Given the description of an element on the screen output the (x, y) to click on. 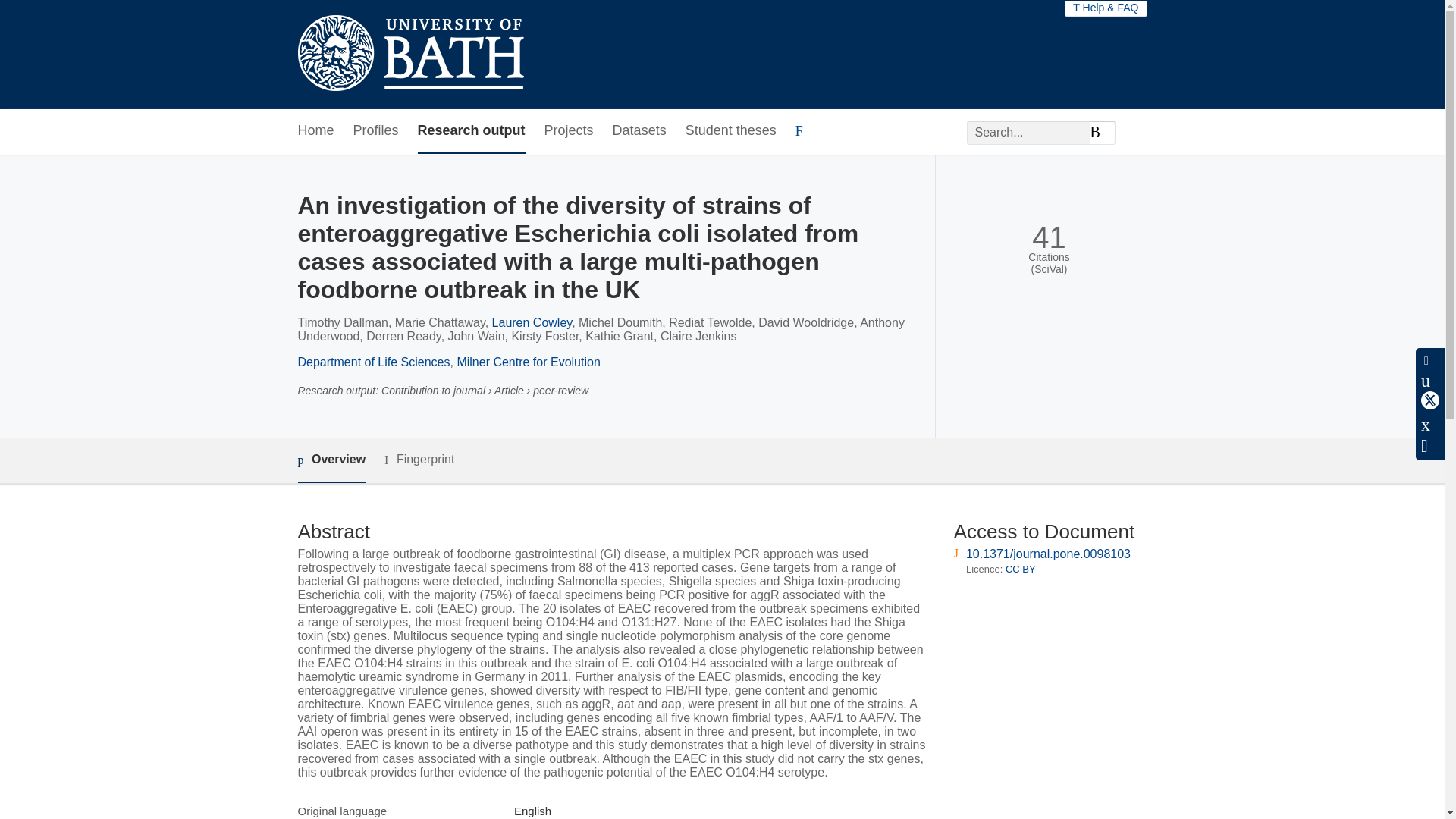
the University of Bath's research portal Home (409, 54)
Department of Life Sciences (373, 361)
Student theses (730, 130)
Research output (471, 130)
CC BY (1020, 568)
Milner Centre for Evolution (528, 361)
Profiles (375, 130)
Datasets (639, 130)
Fingerprint (419, 459)
Overview (331, 460)
Projects (569, 130)
Lauren Cowley (532, 322)
